Given the description of an element on the screen output the (x, y) to click on. 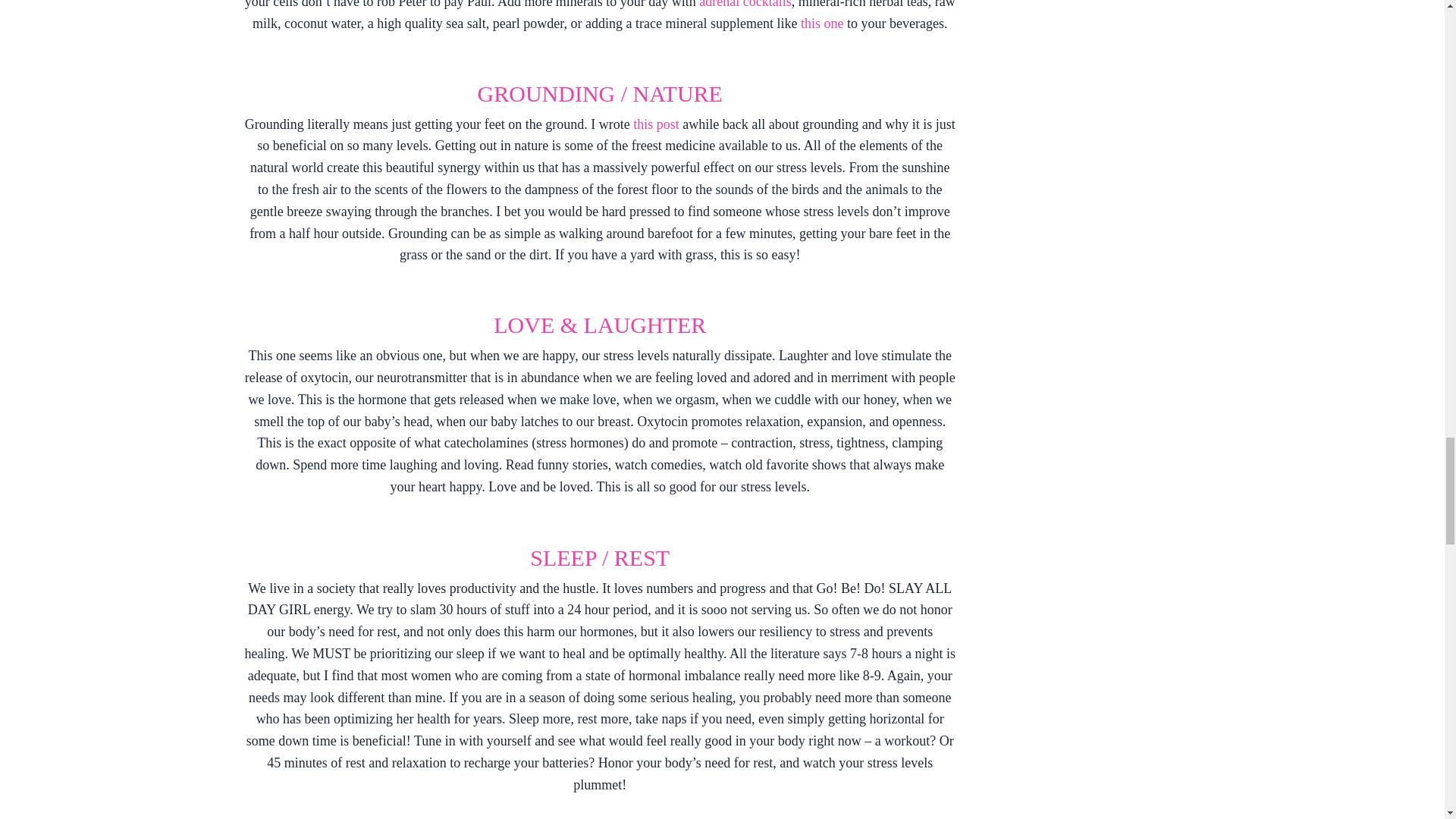
adrenal cocktails (744, 4)
this post (657, 124)
this one (822, 23)
